Given the description of an element on the screen output the (x, y) to click on. 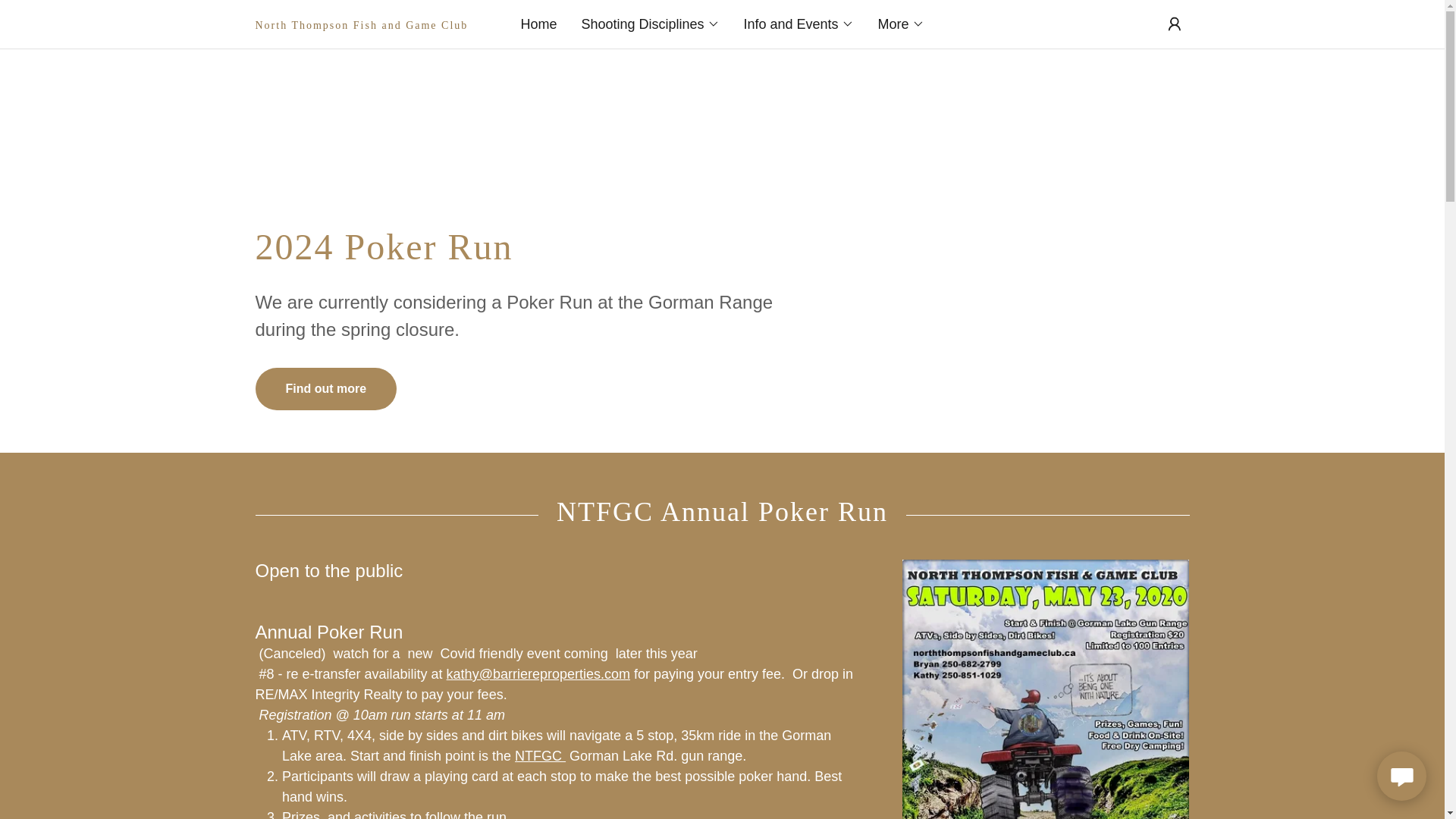
Info and Events (797, 24)
Home (537, 23)
North Thompson Fish and Game Club (370, 23)
Shooting Disciplines (649, 24)
North Thompson Fish and Game Club (370, 23)
More (900, 24)
